Given the description of an element on the screen output the (x, y) to click on. 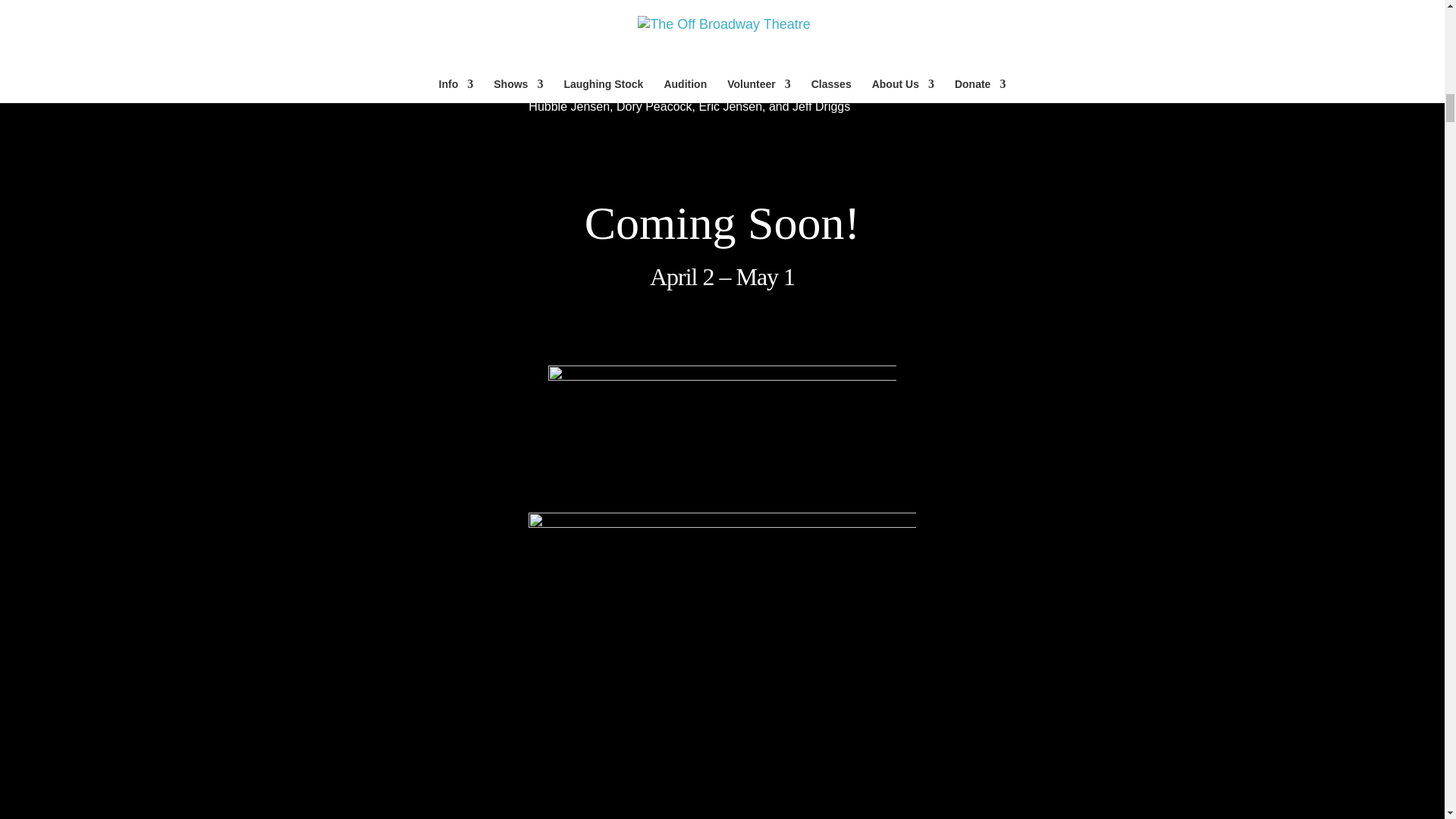
The Phantom of the OBT web (721, 665)
